Given the description of an element on the screen output the (x, y) to click on. 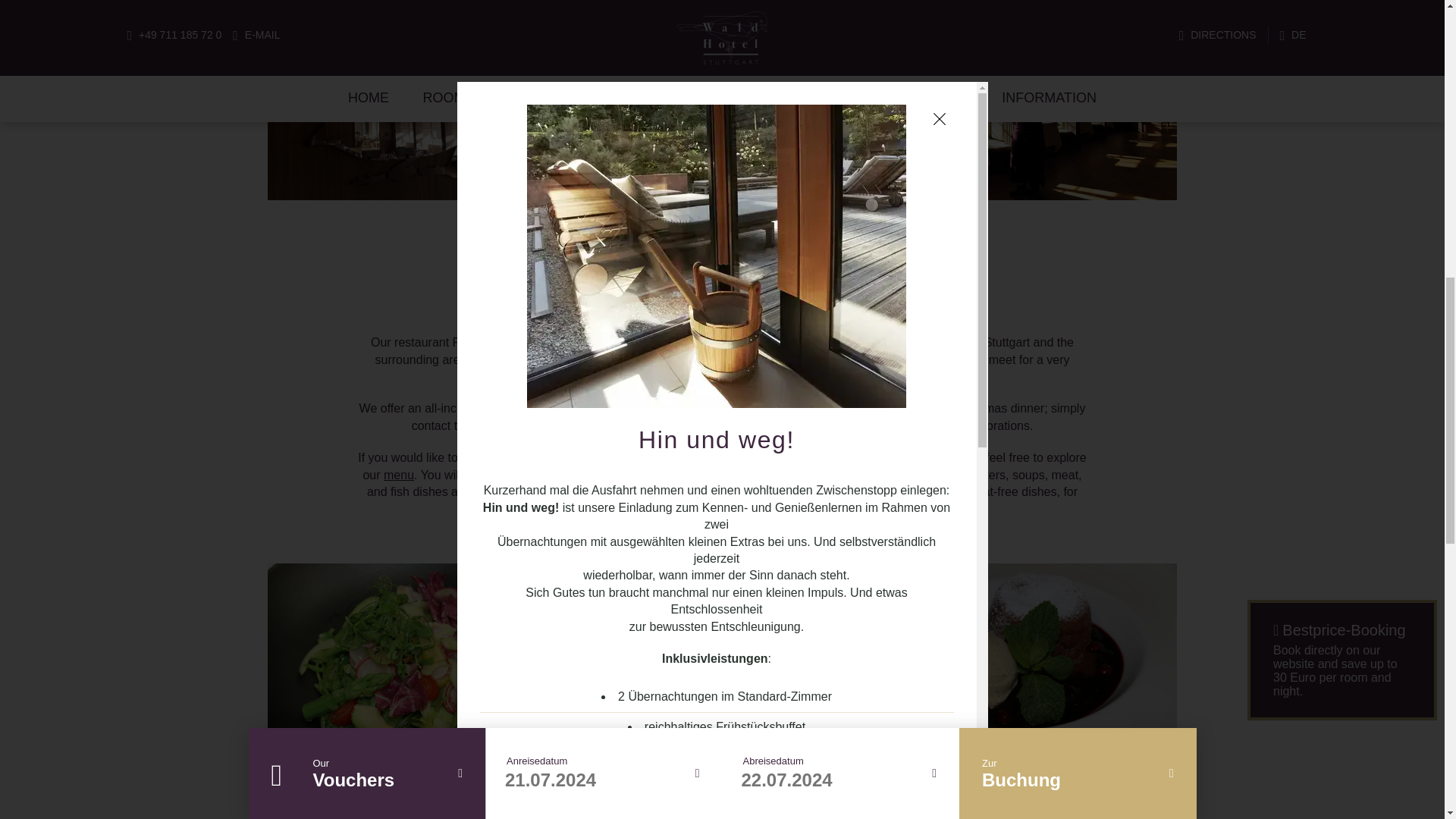
Hier online buchen (715, 397)
